Given the description of an element on the screen output the (x, y) to click on. 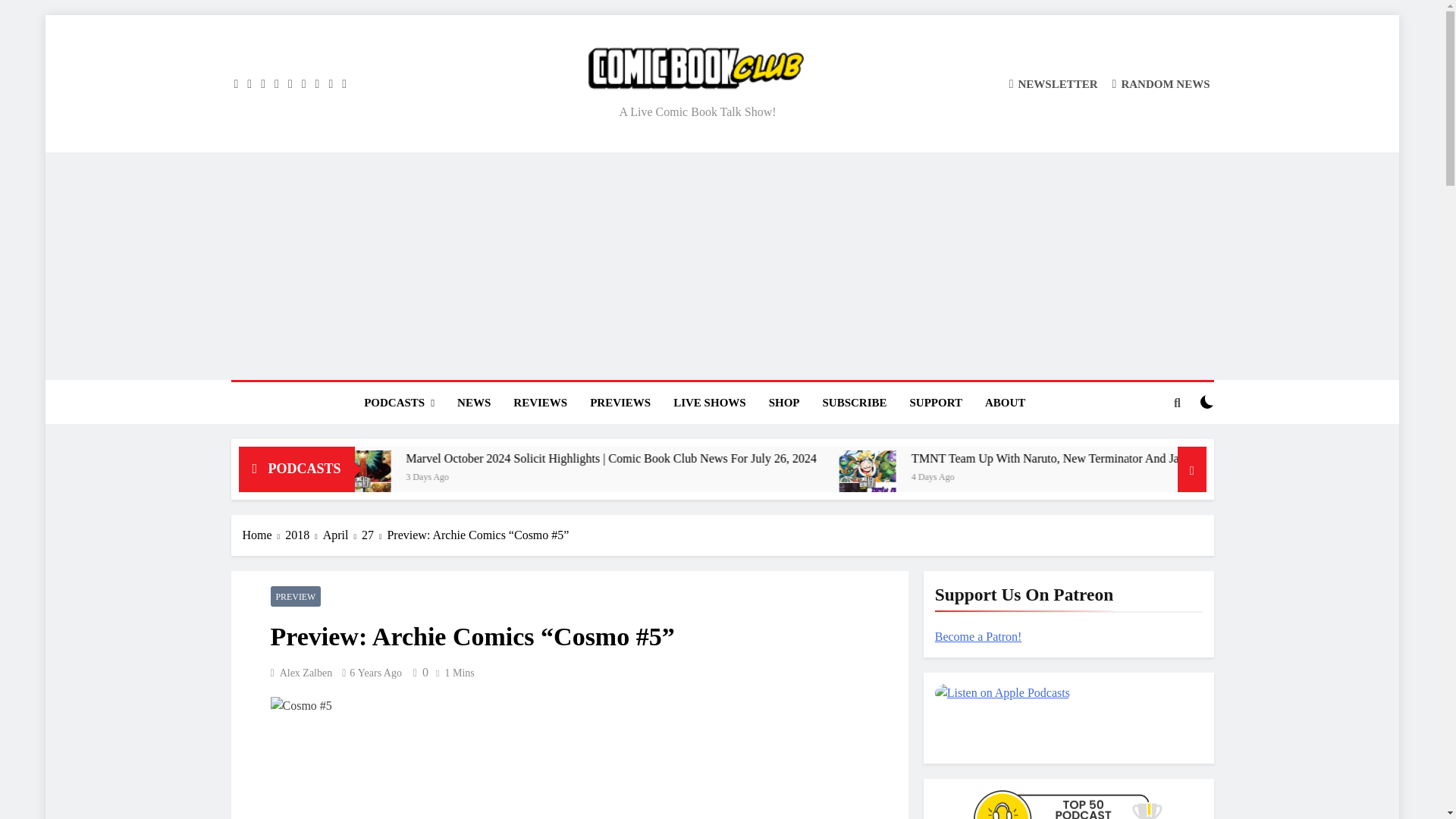
RANDOM NEWS (1160, 83)
on (1206, 401)
Comic Book Club (560, 112)
NEWS (473, 402)
NEWSLETTER (1053, 83)
PODCASTS (398, 403)
